Given the description of an element on the screen output the (x, y) to click on. 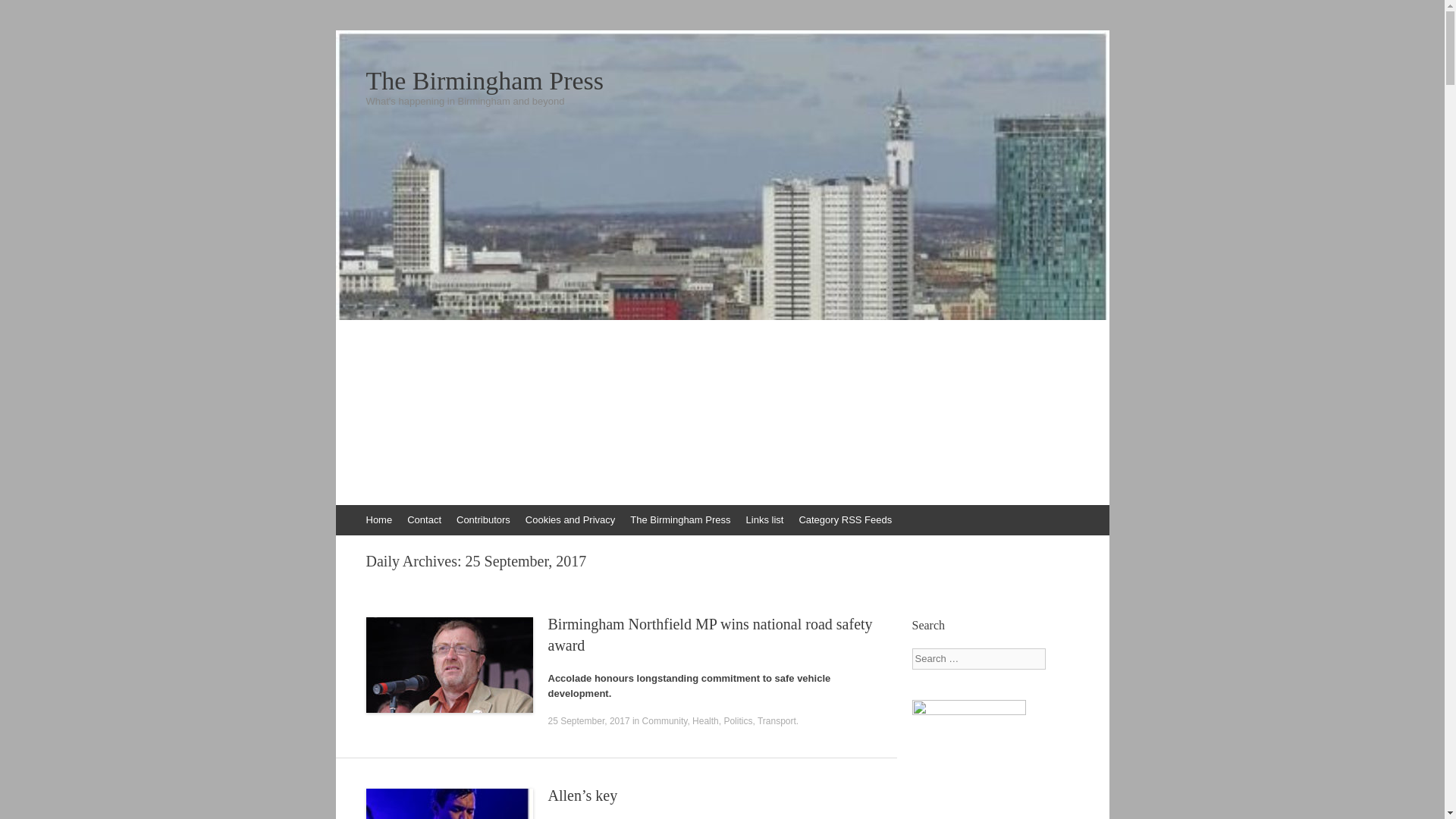
Category RSS Feeds (844, 520)
Category RSS Feeds (844, 520)
Community (664, 720)
Home (378, 520)
Home (378, 520)
Contact (423, 520)
The Birmingham Press (721, 80)
Skip to content (342, 512)
Transport (776, 720)
Birmingham Northfield MP wins national road safety award (709, 634)
